Given the description of an element on the screen output the (x, y) to click on. 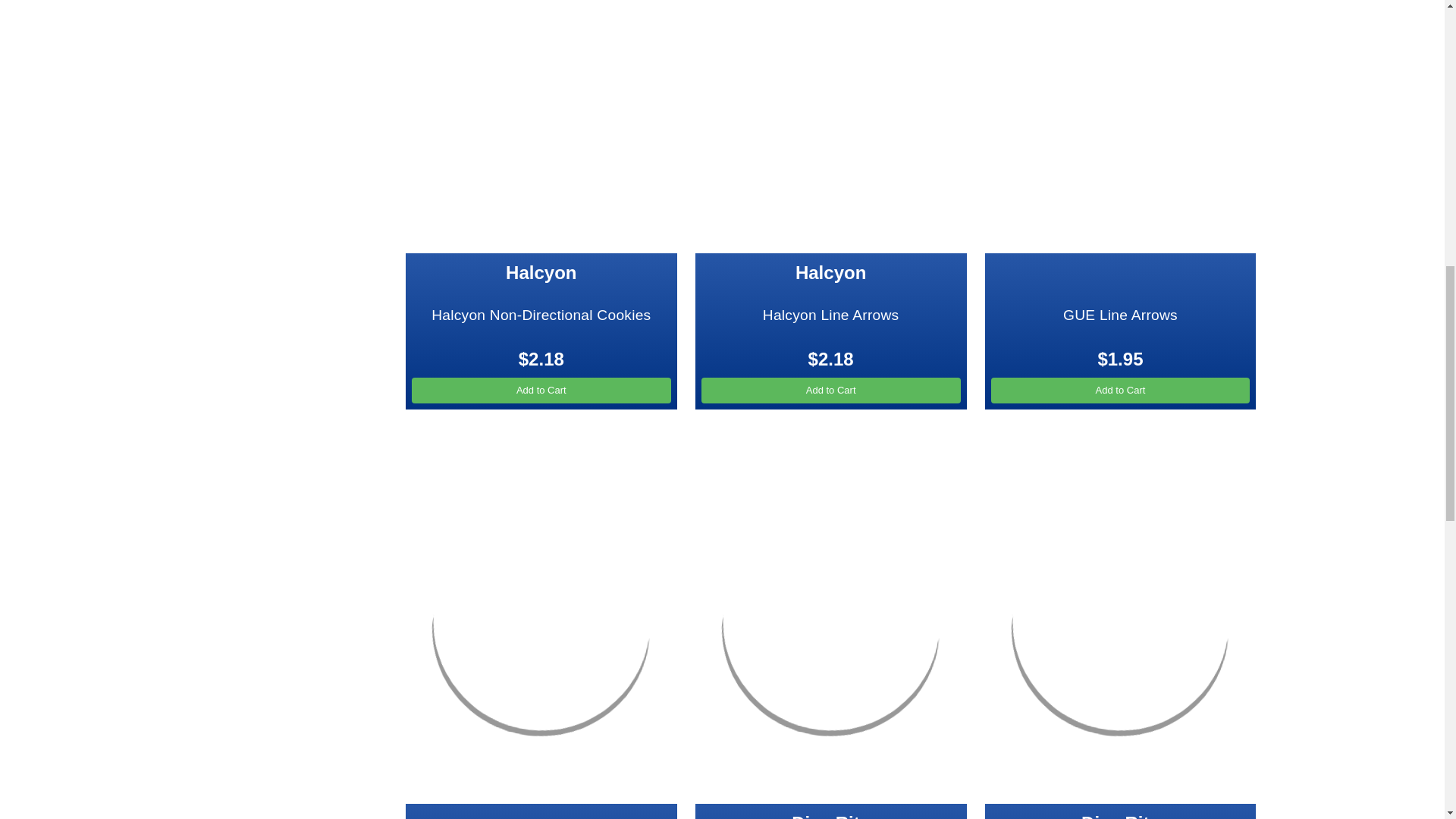
Halcyon Non-Directional Cookies (541, 126)
Halcyon Line Arrows (830, 126)
GUE Line Arrows (1120, 126)
